Given the description of an element on the screen output the (x, y) to click on. 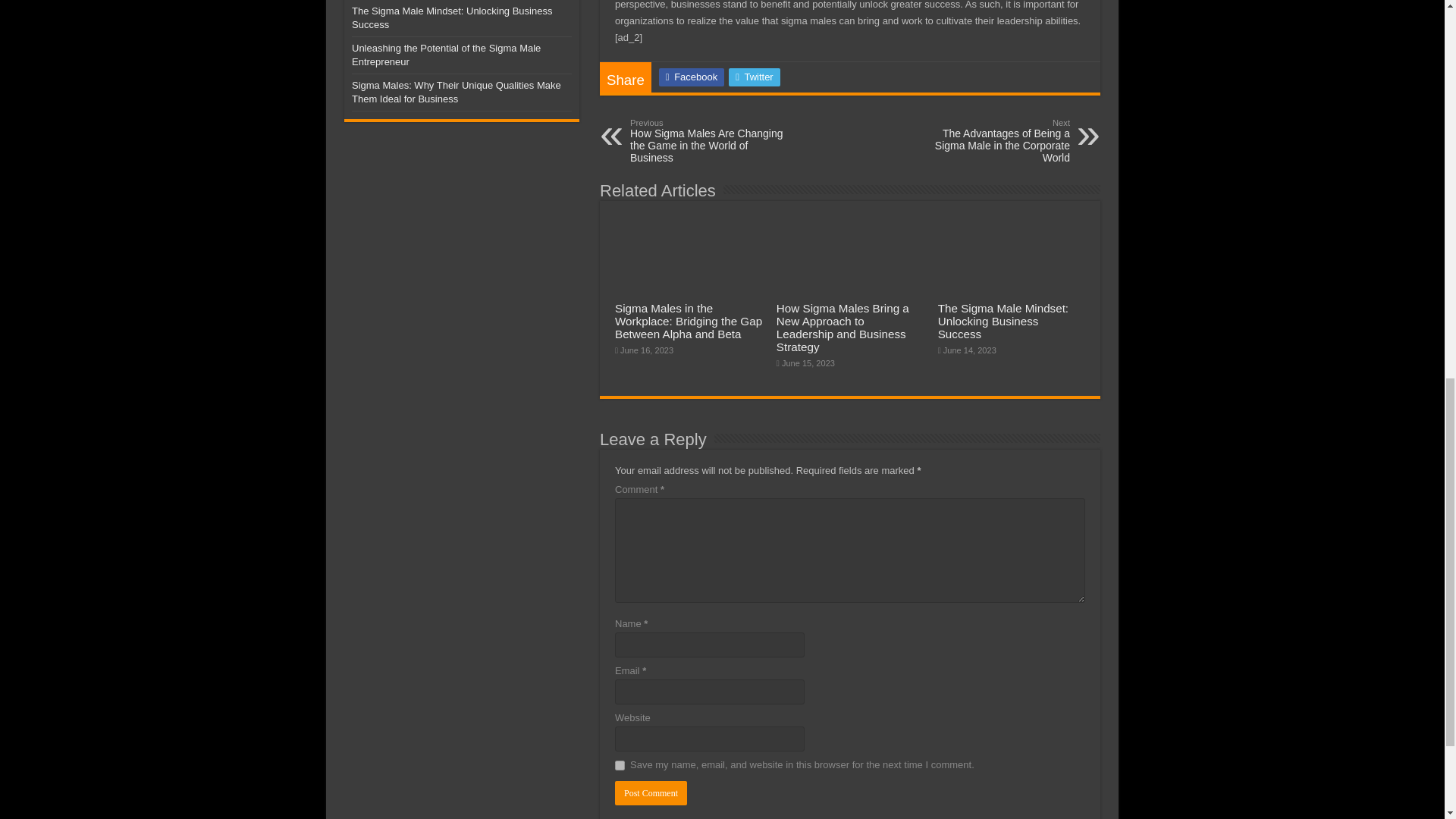
Twitter (753, 76)
yes (619, 765)
The Sigma Male Mindset: Unlocking Business Success (1002, 321)
Post Comment (650, 793)
Post Comment (650, 793)
Facebook (691, 76)
